Given the description of an element on the screen output the (x, y) to click on. 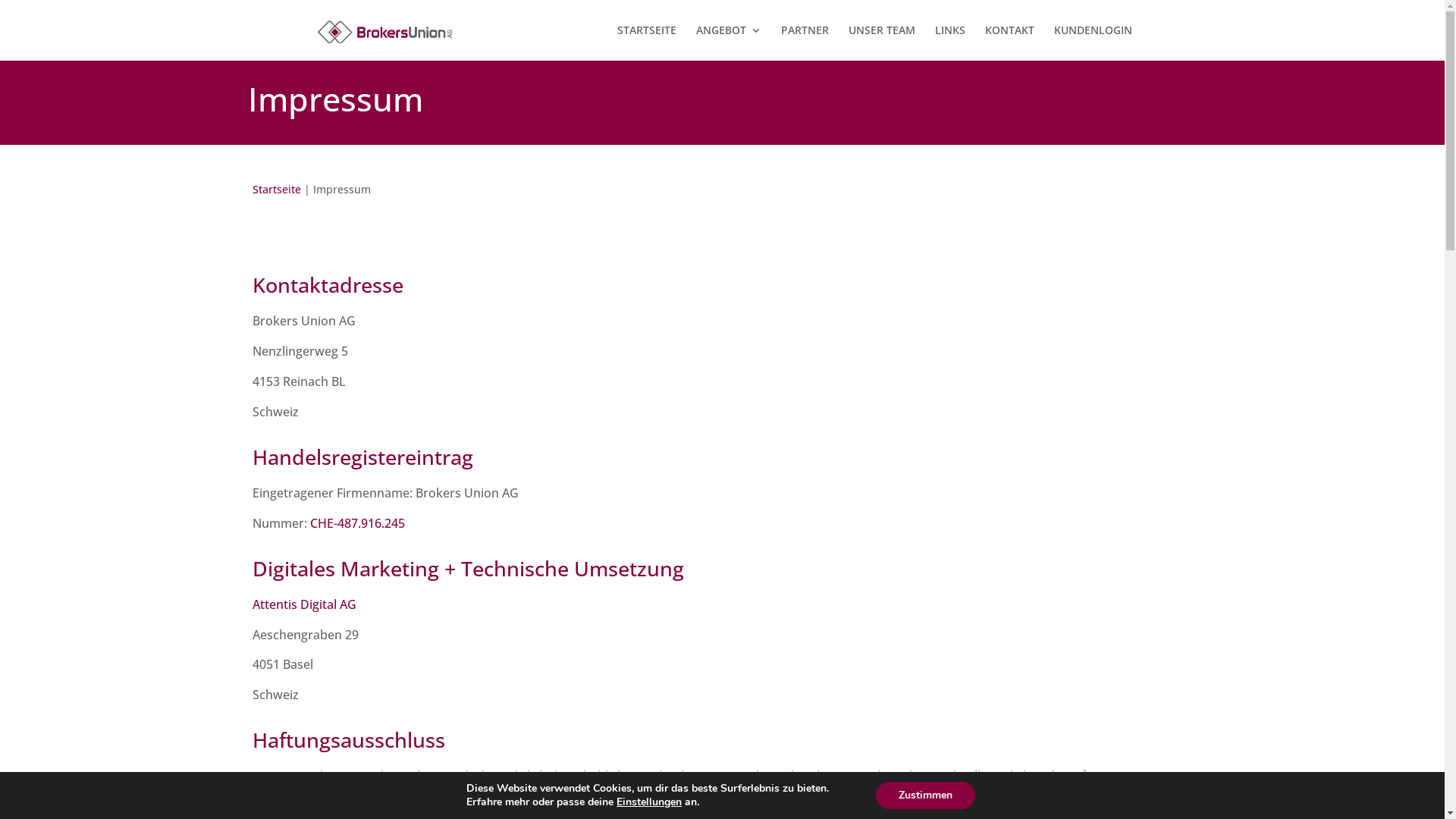
Startseite Element type: text (276, 189)
Attentis Digital AG Element type: text (304, 604)
KONTAKT Element type: text (1008, 42)
CHE-487.916.245 Element type: text (357, 522)
ANGEBOT Element type: text (728, 42)
KUNDENLOGIN Element type: text (1093, 42)
Zustimmen Element type: text (933, 795)
LINKS Element type: text (949, 42)
Einstellungen Element type: text (650, 802)
STARTSEITE Element type: text (646, 42)
PARTNER Element type: text (804, 42)
UNSER TEAM Element type: text (880, 42)
